Given the description of an element on the screen output the (x, y) to click on. 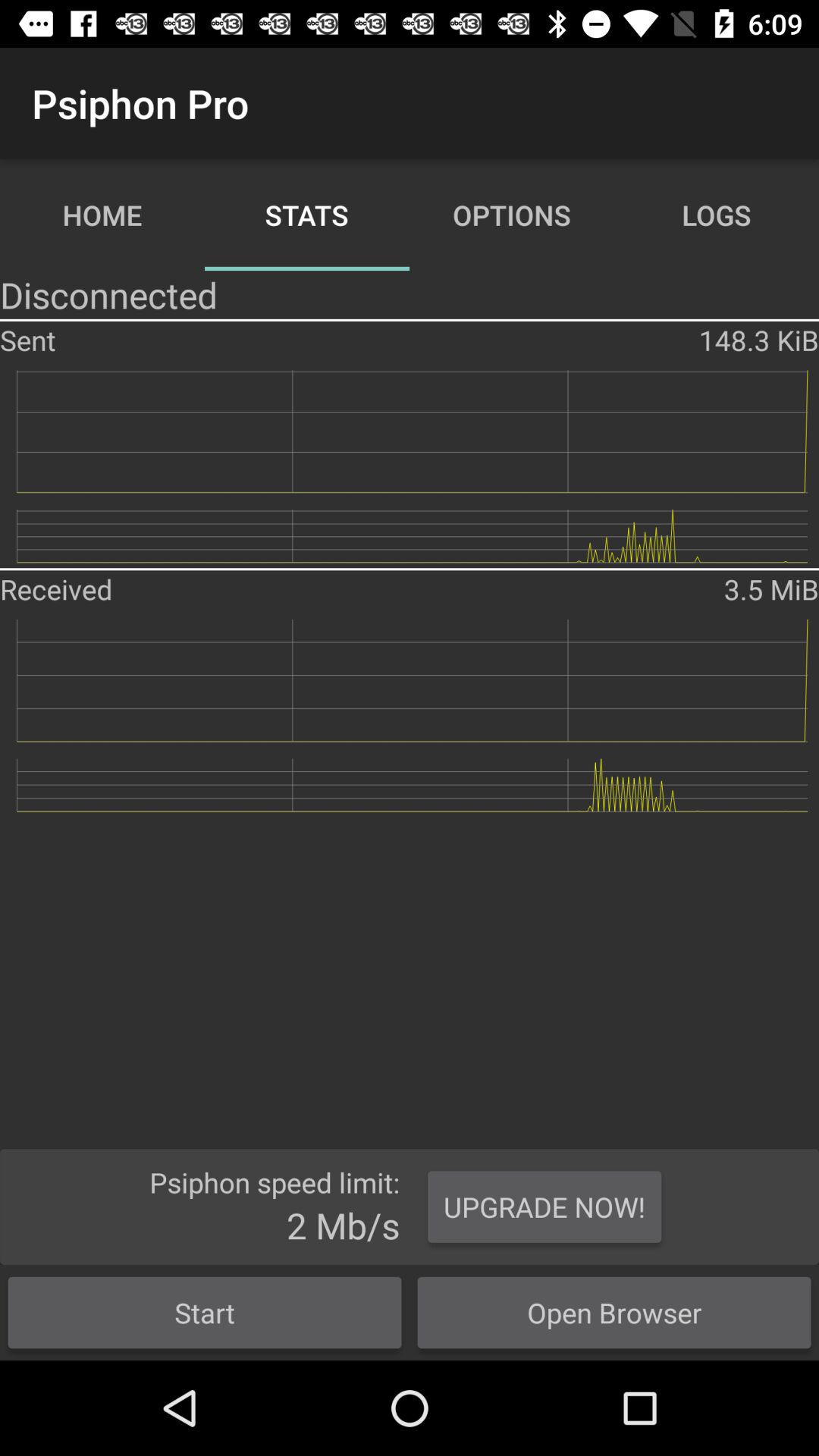
scroll to the open browser (614, 1312)
